Given the description of an element on the screen output the (x, y) to click on. 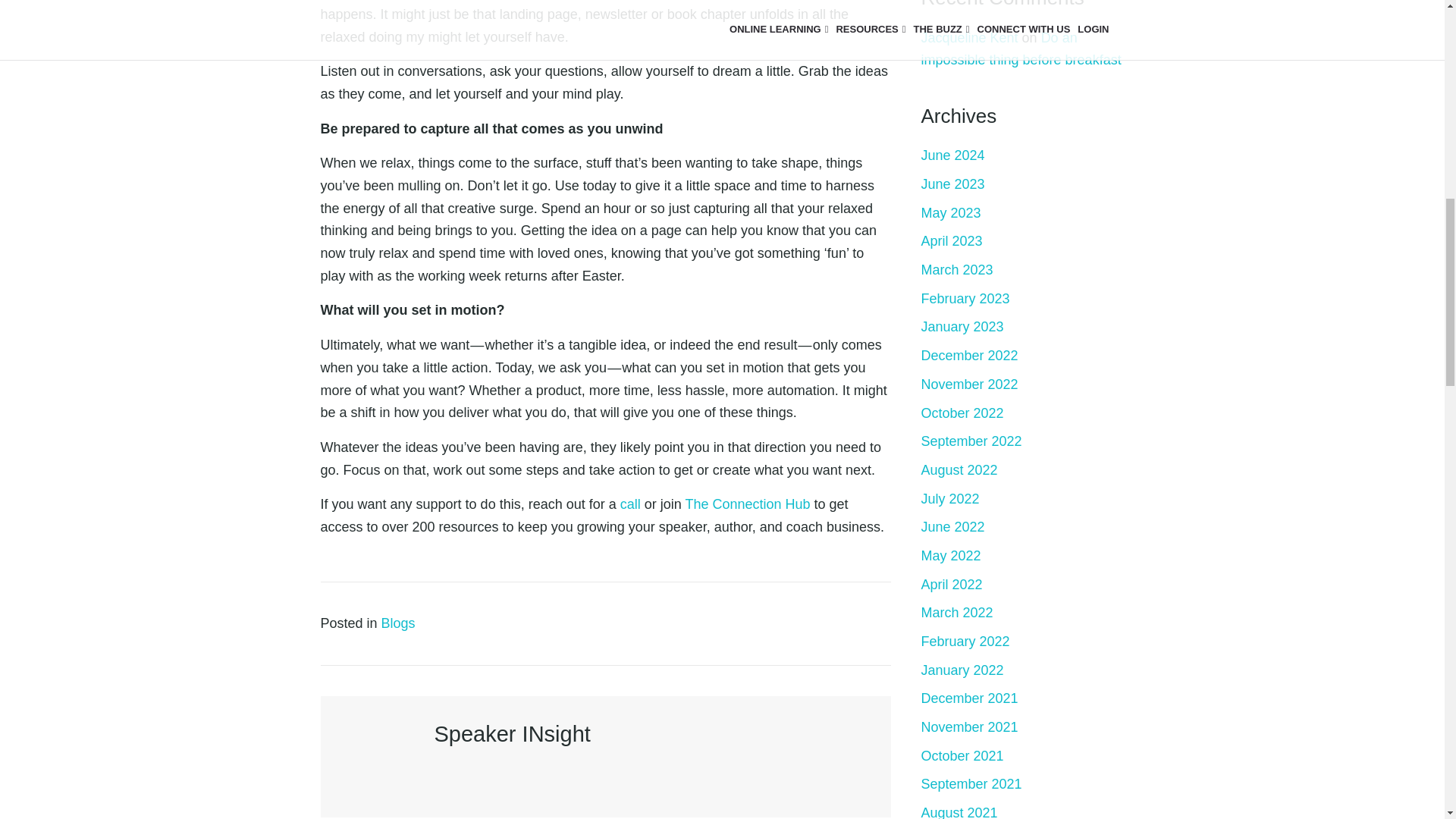
Jacqueline Kent (968, 37)
May 2023 (949, 212)
April 2023 (950, 240)
June 2023 (952, 183)
February 2023 (964, 298)
January 2023 (961, 326)
call (630, 503)
Blogs (397, 622)
Do an impossible thing before breakfast (1020, 48)
March 2023 (956, 269)
